Given the description of an element on the screen output the (x, y) to click on. 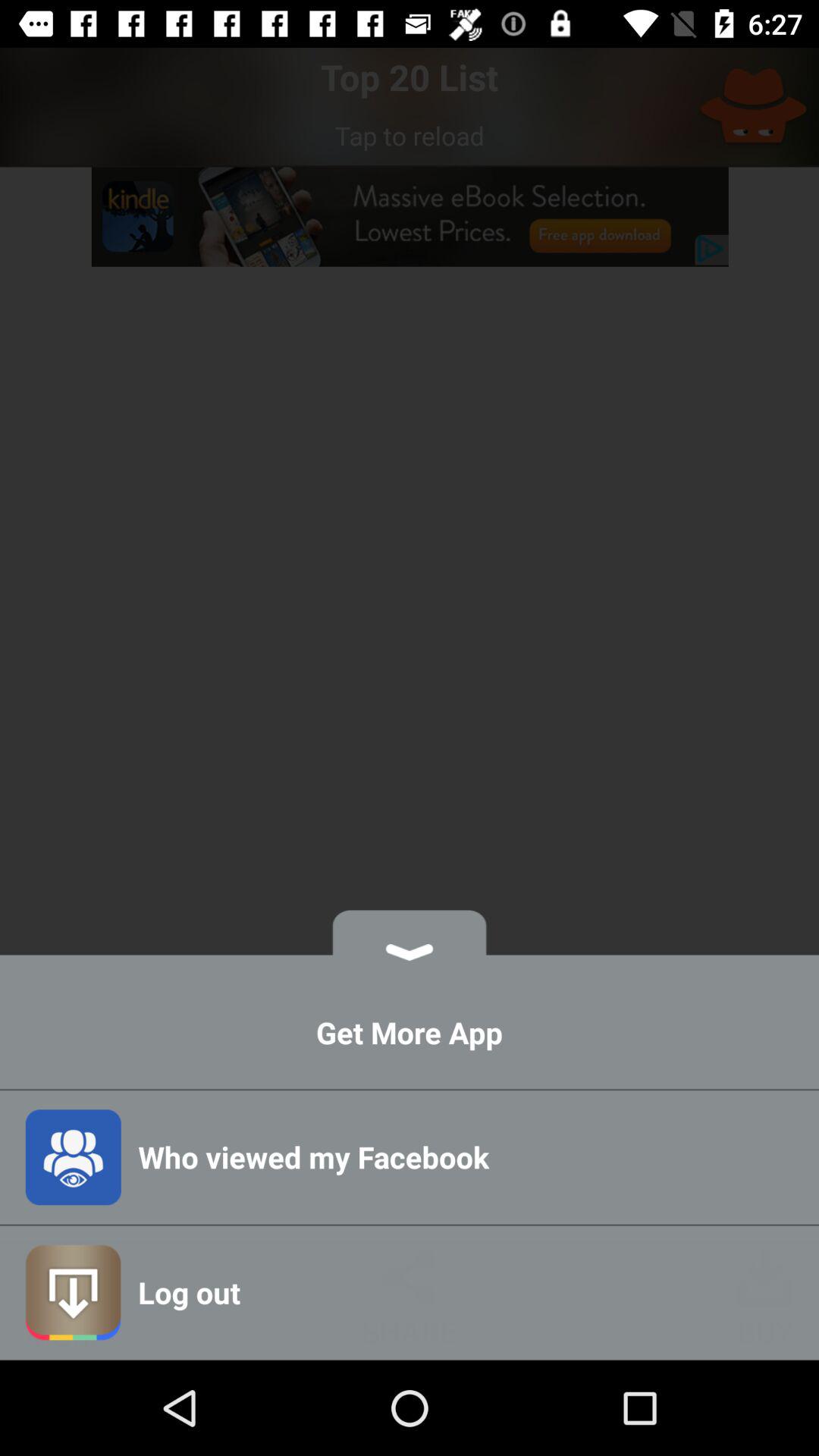
open the tap to reload icon (409, 135)
